Given the description of an element on the screen output the (x, y) to click on. 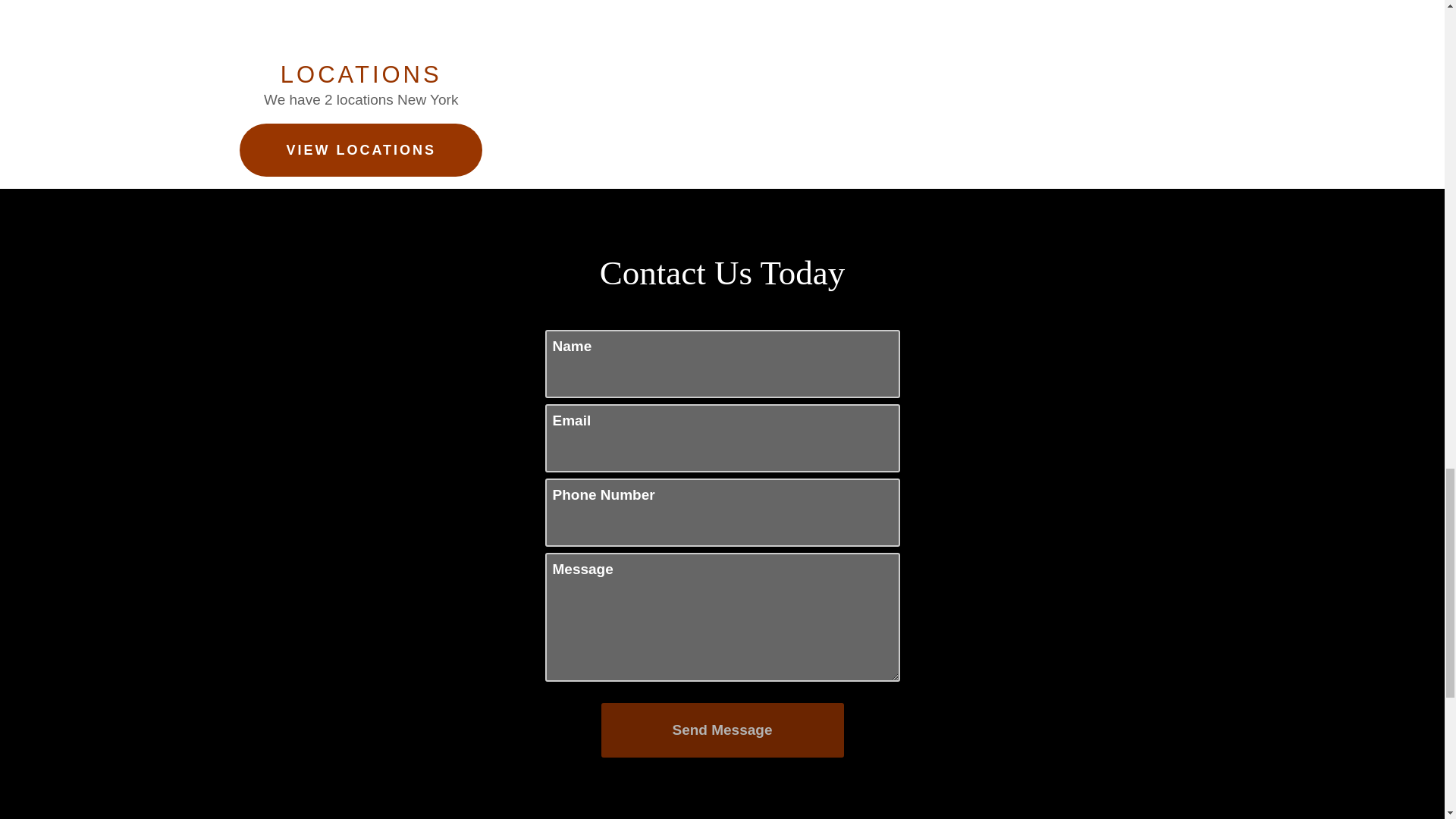
Send Message (721, 729)
Locations (840, 70)
VIEW LOCATIONS (360, 149)
